Given the description of an element on the screen output the (x, y) to click on. 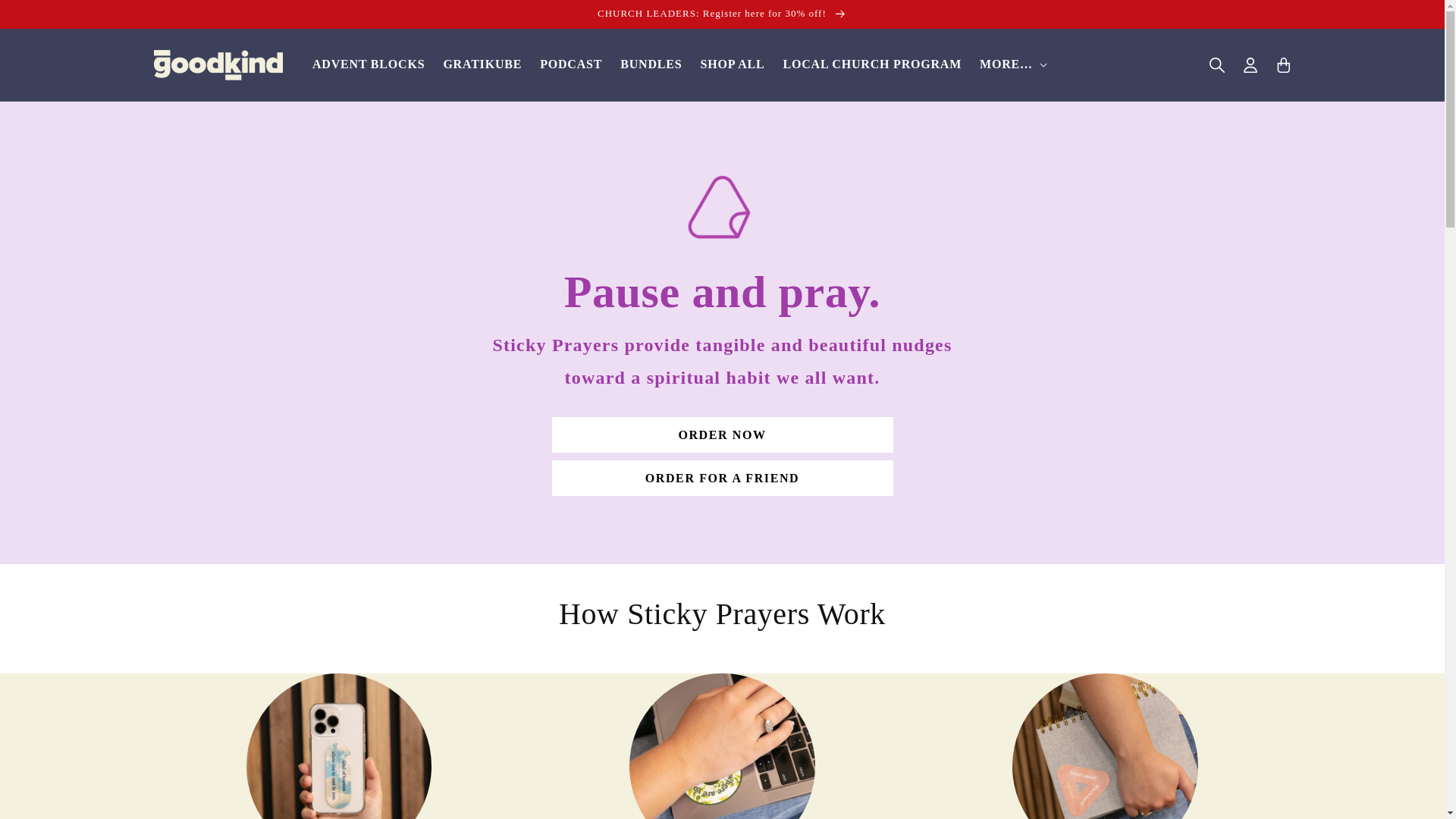
ADVENT BLOCKS (367, 64)
Log in (1249, 64)
ORDER NOW (722, 434)
LOCAL CHURCH PROGRAM (872, 64)
Cart (1283, 64)
SHOP ALL (731, 64)
BUNDLES (650, 64)
GRATIKUBE (482, 64)
SKIP TO CONTENT (45, 17)
PODCAST (571, 64)
